Given the description of an element on the screen output the (x, y) to click on. 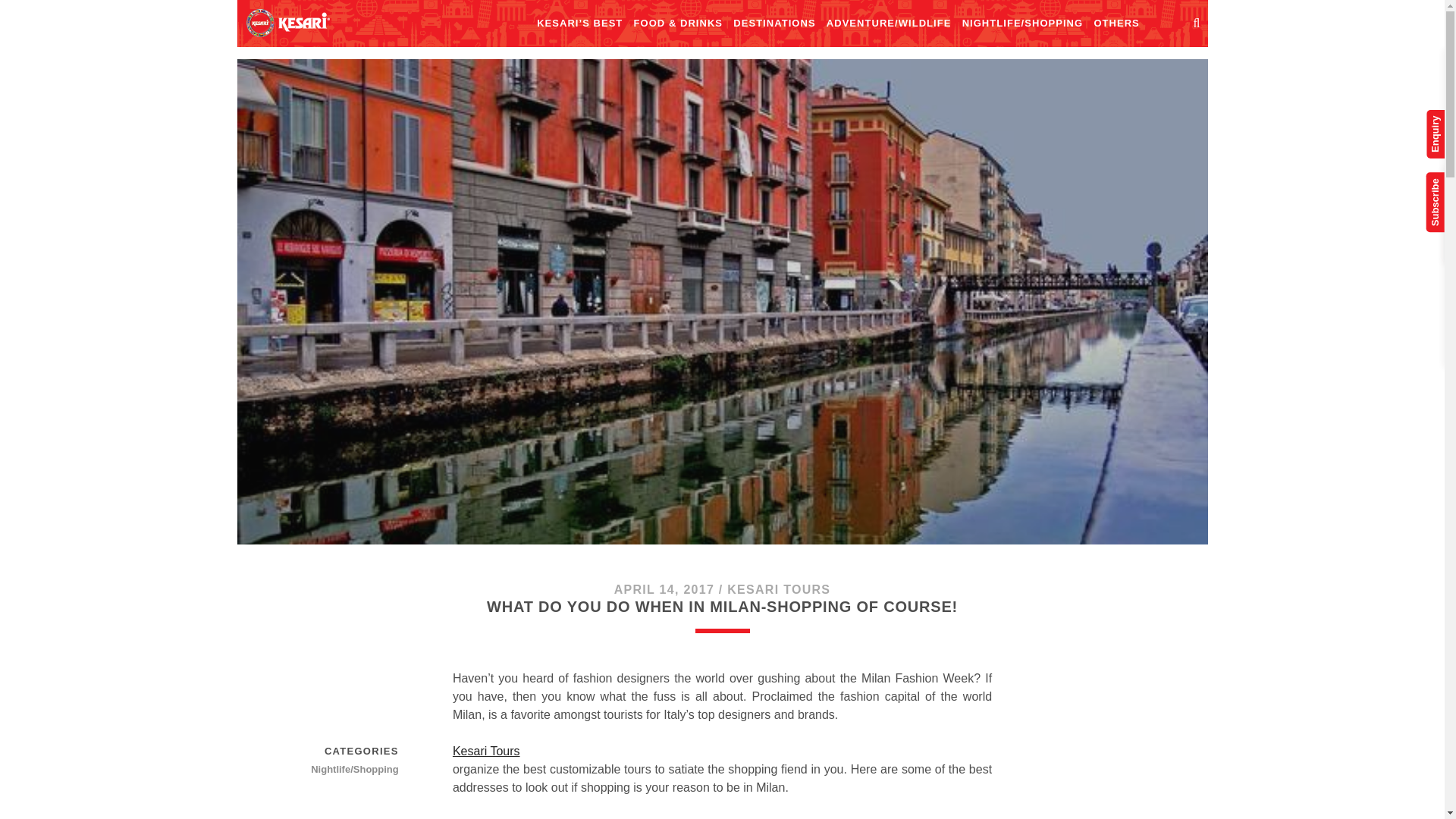
Go (1416, 23)
Posts by Kesari Tours (777, 589)
Kesari Tours (721, 751)
Best Travel Blogs (287, 22)
DESTINATIONS (774, 23)
KESARI TOURS (777, 589)
OTHERS (1115, 23)
